Given the description of an element on the screen output the (x, y) to click on. 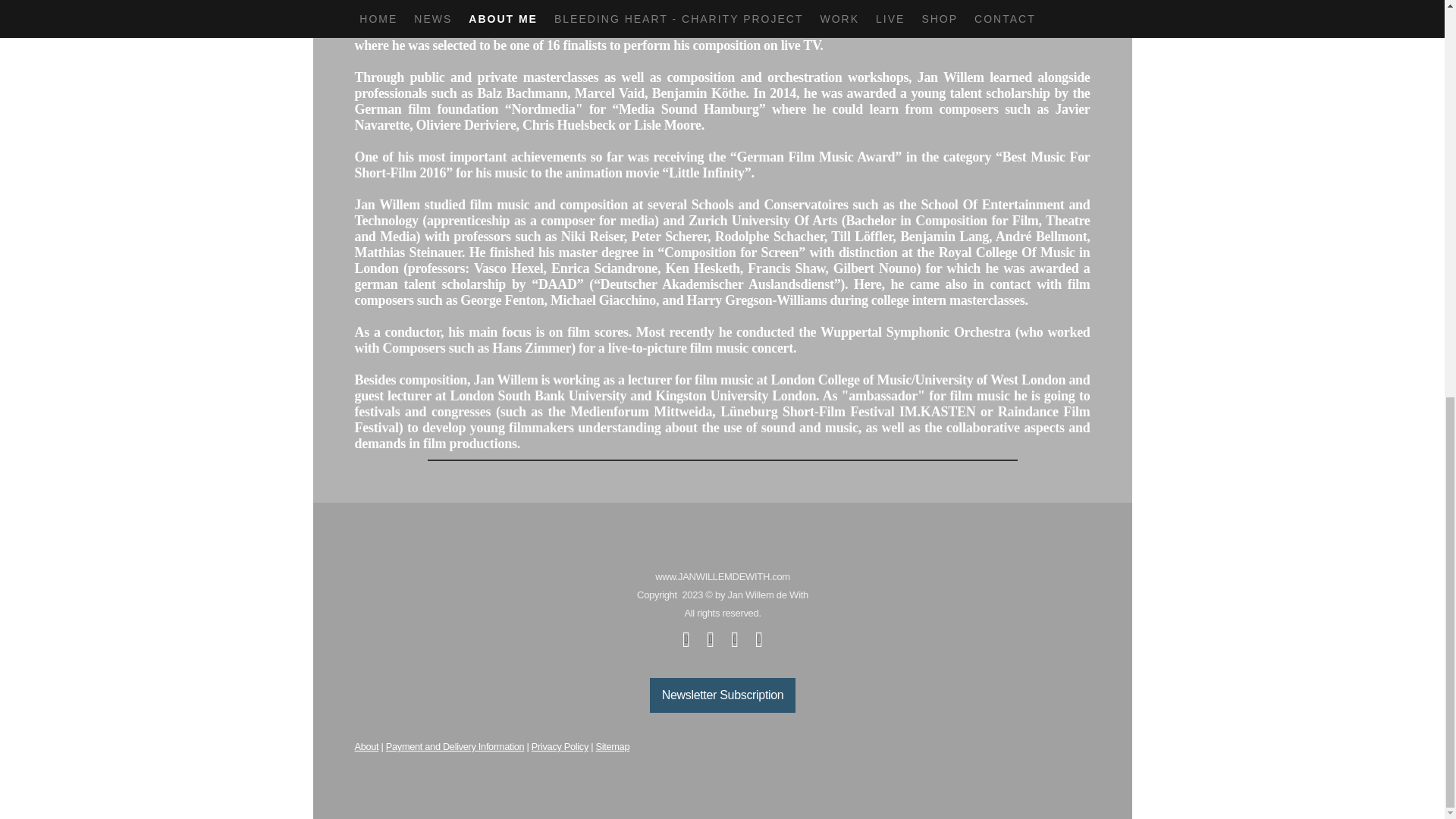
LinkedIn (759, 639)
Email (734, 639)
Twitter (710, 639)
Facebook (686, 639)
